Given the description of an element on the screen output the (x, y) to click on. 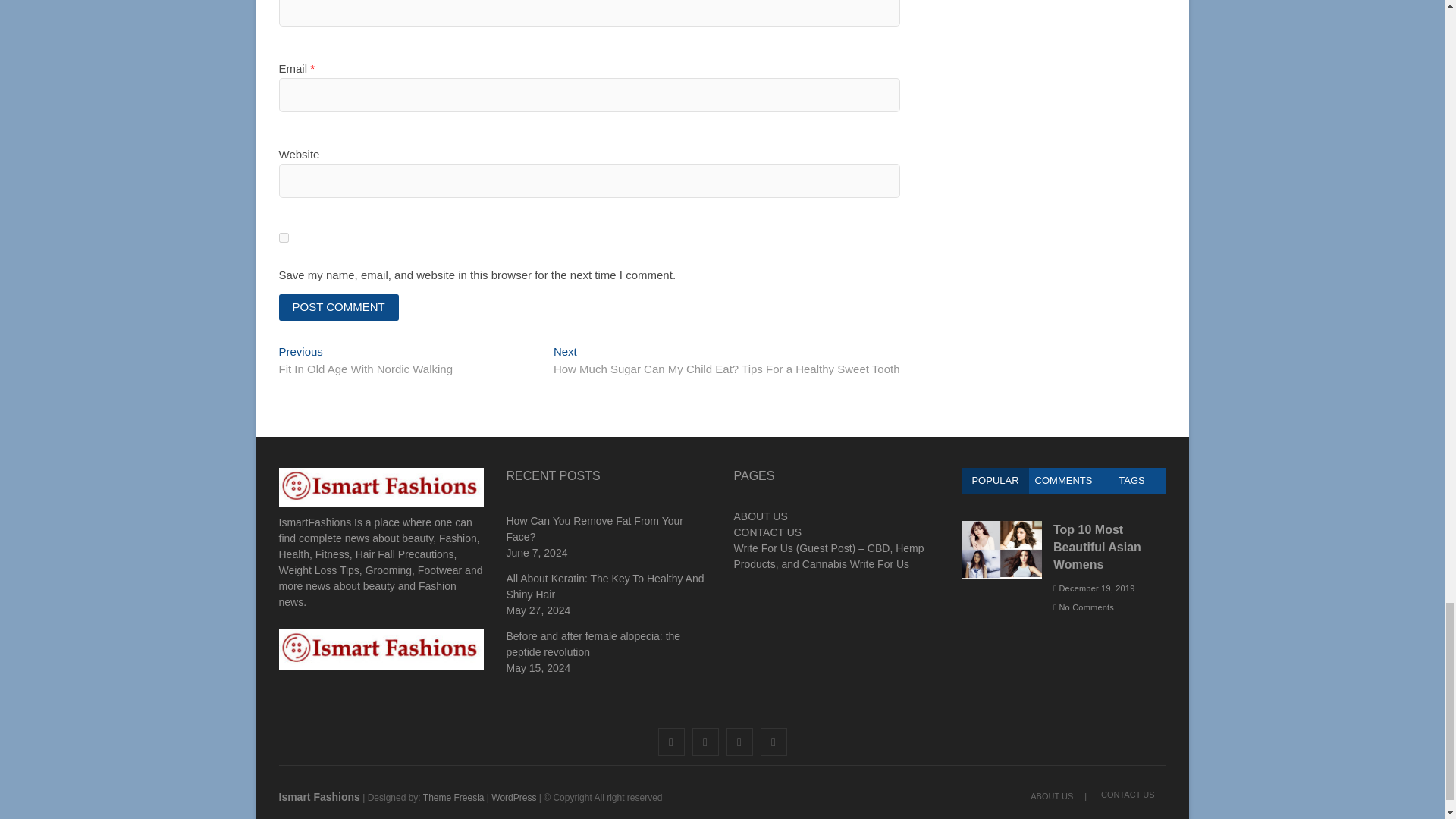
Post Comment (338, 307)
yes (283, 237)
